Given the description of an element on the screen output the (x, y) to click on. 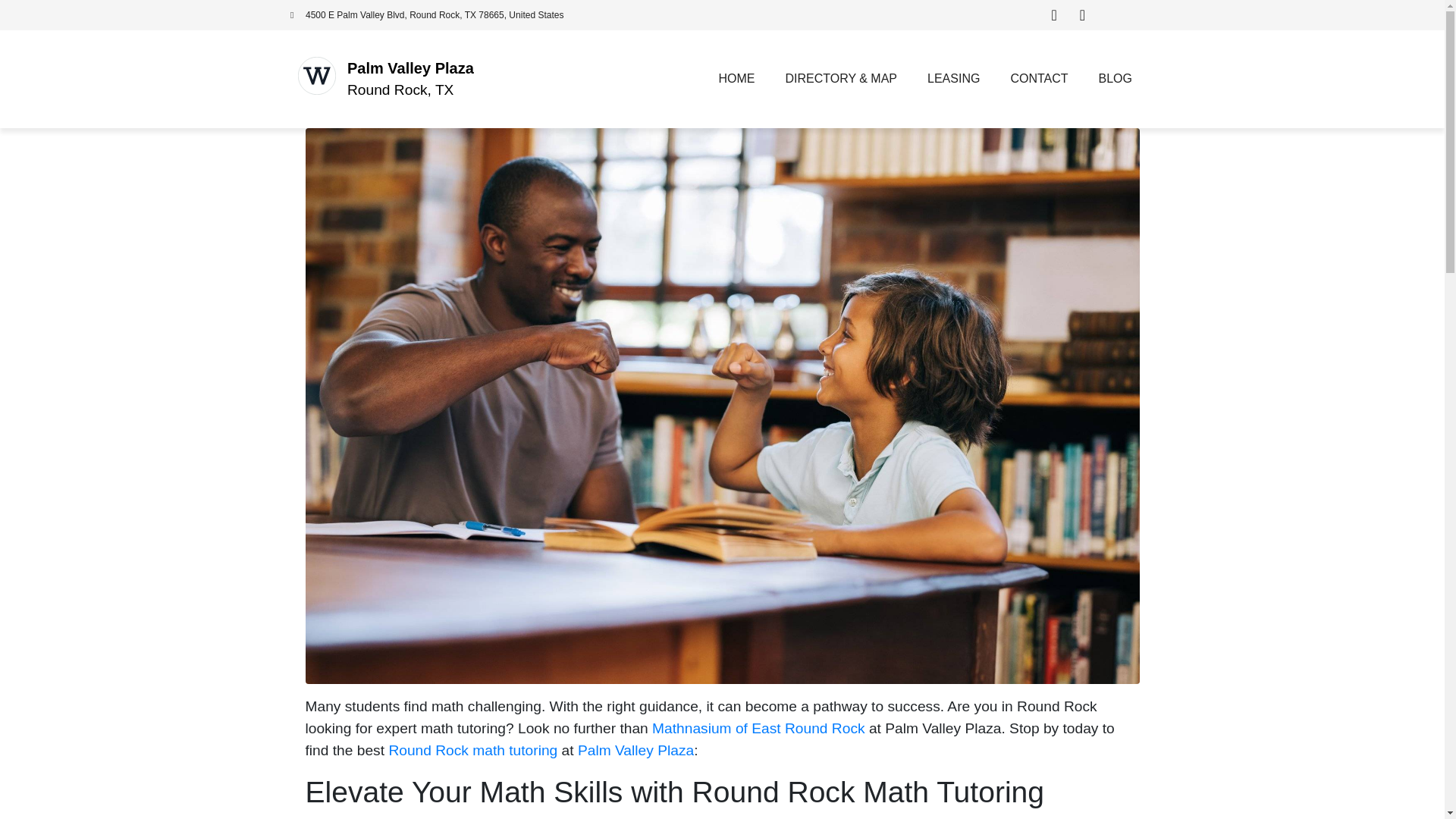
Mathnasium of East Round Rock (758, 728)
BLOG (1115, 78)
LEASING (953, 78)
Round Rock math tutoring (472, 750)
Palm Valley Plaza (410, 67)
HOME (736, 78)
Palm Valley Plaza (636, 750)
CONTACT (1038, 78)
